Given the description of an element on the screen output the (x, y) to click on. 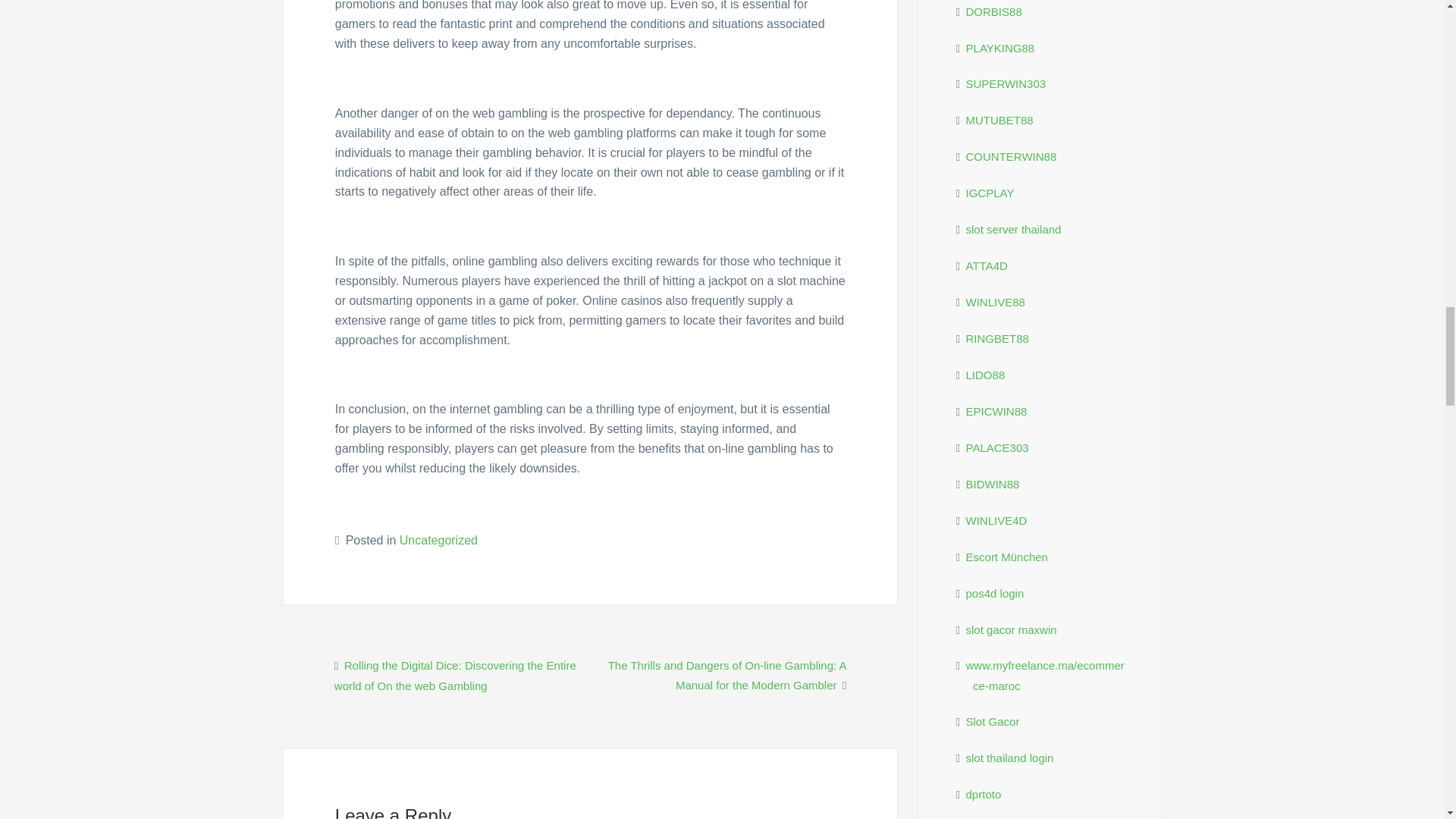
Uncategorized (437, 540)
